Given the description of an element on the screen output the (x, y) to click on. 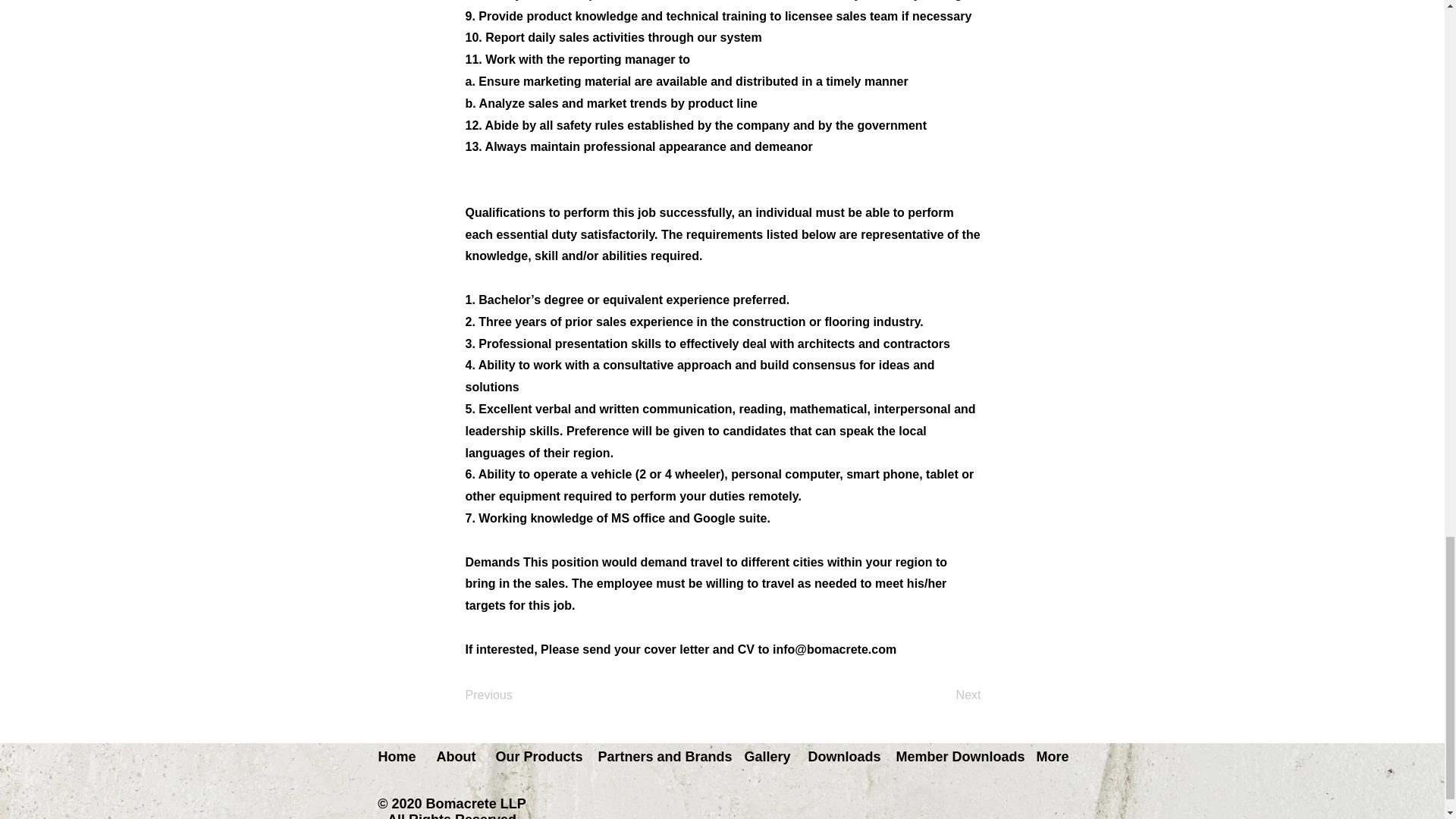
Gallery (764, 756)
Next (943, 695)
About (454, 756)
Partners and Brands (659, 756)
Home (395, 756)
Previous (515, 695)
Our Products (534, 756)
